Given the description of an element on the screen output the (x, y) to click on. 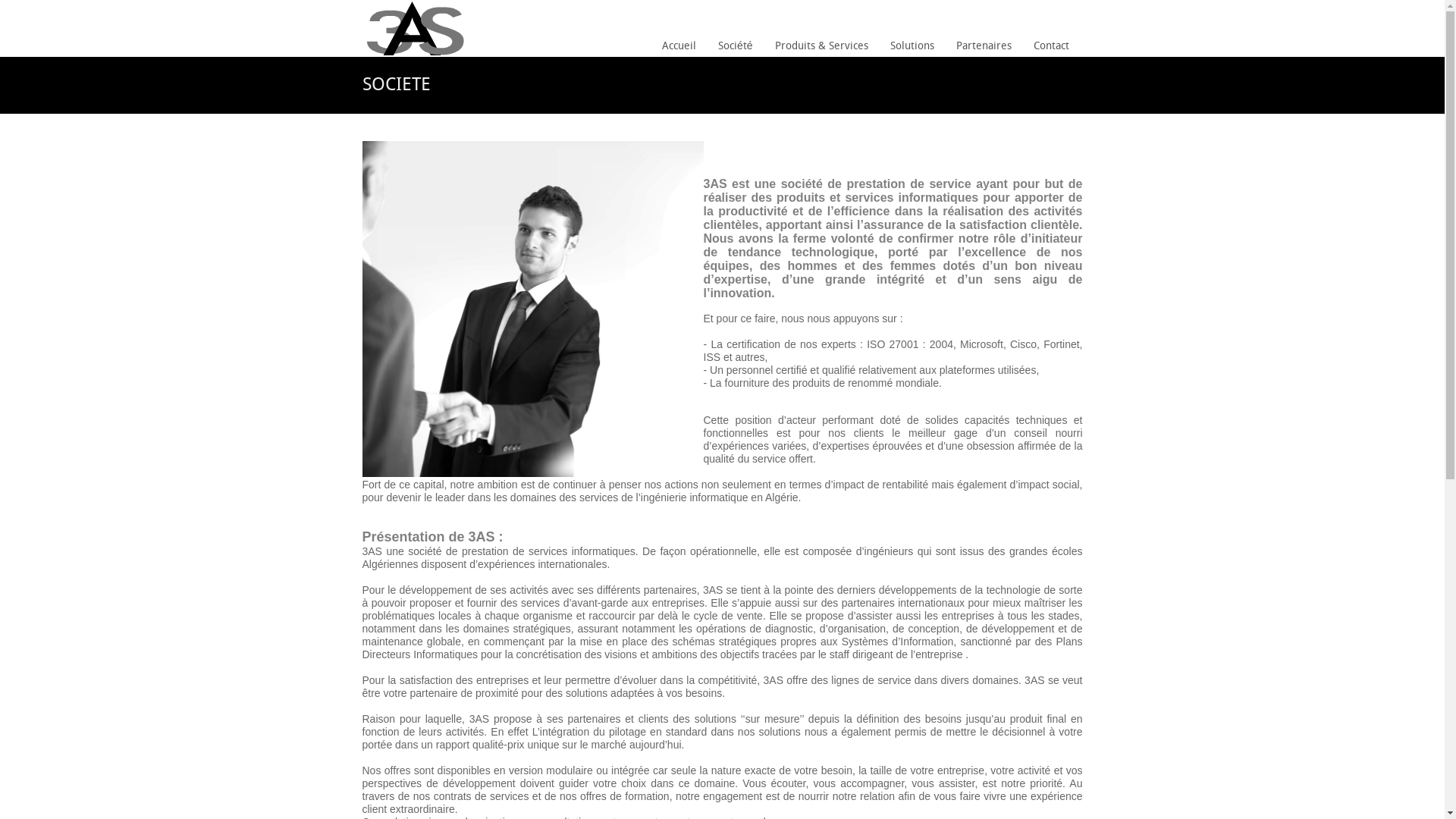
Accueil Element type: text (678, 46)
Solutions Element type: text (911, 46)
Contact Element type: text (1051, 46)
Partenaires Element type: text (983, 46)
Produits & Services Element type: text (820, 46)
